Given the description of an element on the screen output the (x, y) to click on. 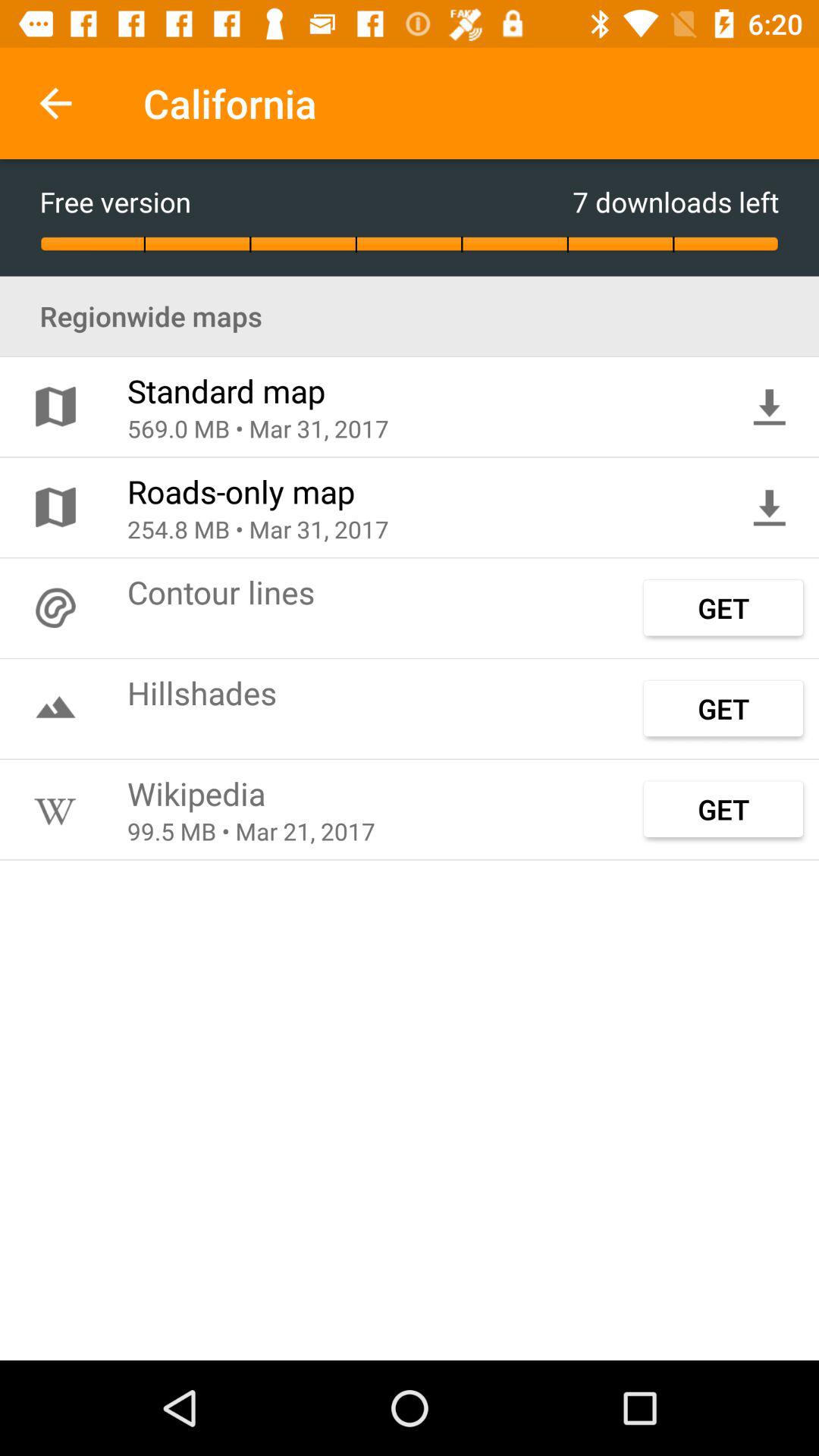
click app next to the california app (55, 103)
